Given the description of an element on the screen output the (x, y) to click on. 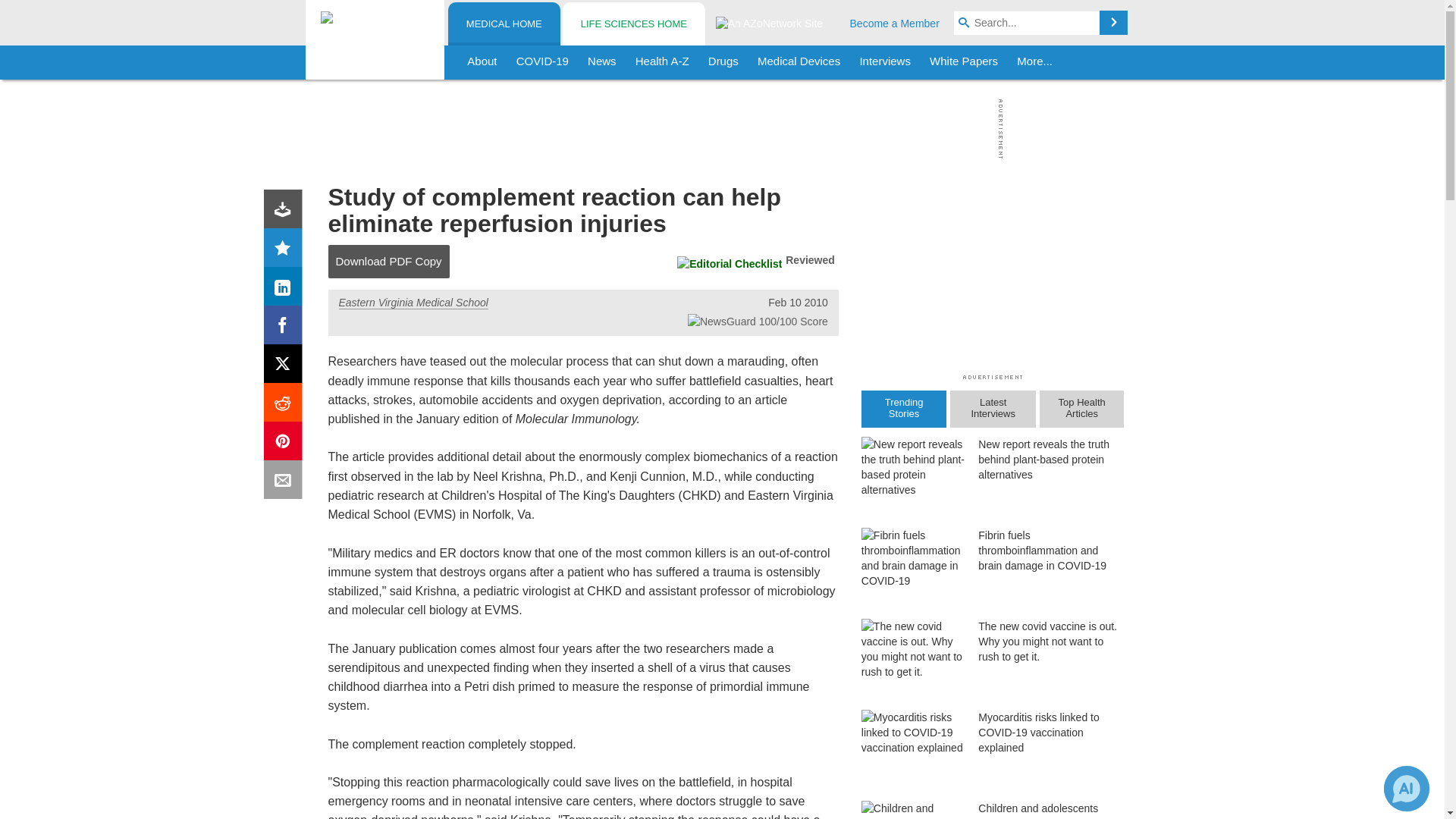
Facebook (285, 328)
Medical Devices (798, 62)
MEDICAL HOME (504, 23)
Pinterest (285, 443)
Health A-Z (662, 62)
White Papers (963, 62)
About (482, 62)
Search (1112, 22)
COVID-19 (542, 62)
